Given the description of an element on the screen output the (x, y) to click on. 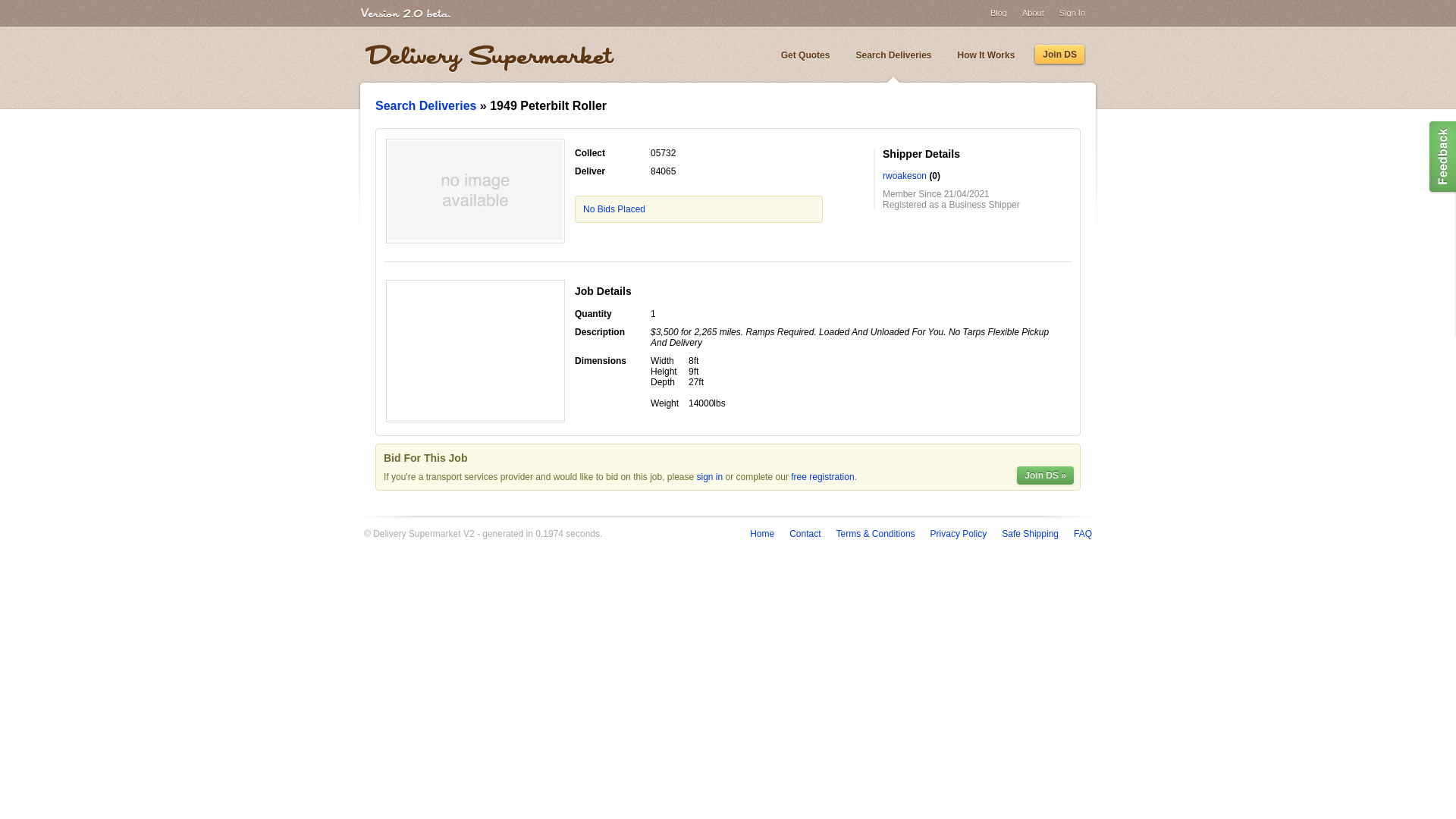
free registration (821, 476)
Return to Delivery Supermarket home (489, 59)
Permalink to site blog (1059, 54)
Join DS (1059, 54)
Permalink to site blog (805, 55)
Blog (998, 12)
FAQ (1083, 533)
Permalink to the page about us (1032, 12)
Get Quotes (805, 55)
Search Deliveries (893, 55)
Permalink to site blog (986, 55)
How It Works (986, 55)
Permalink to site blog (893, 55)
Contact (805, 533)
No Bids Placed (614, 208)
